Given the description of an element on the screen output the (x, y) to click on. 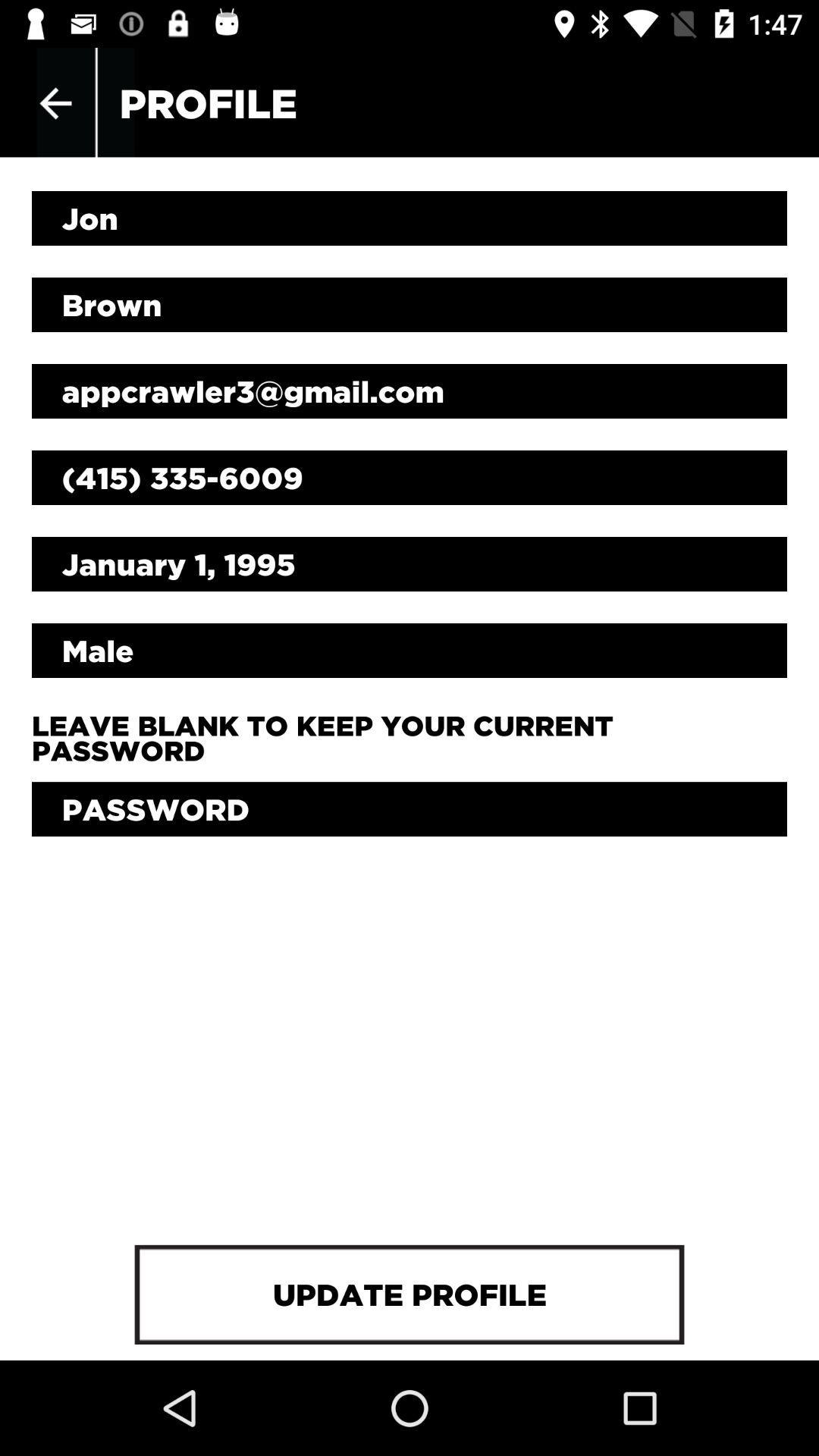
current password (409, 809)
